Given the description of an element on the screen output the (x, y) to click on. 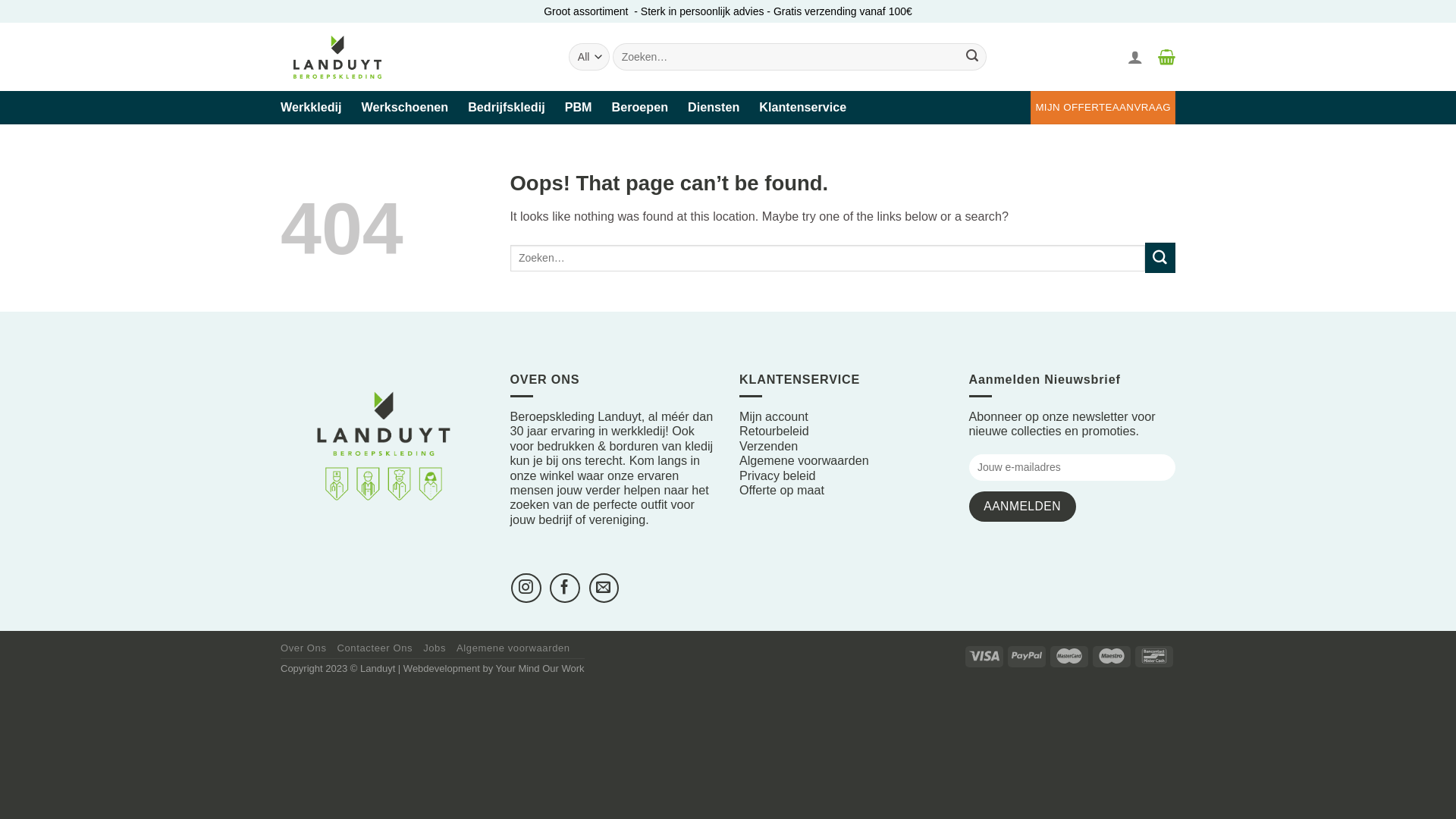
Retourbeleid Element type: text (774, 430)
Klantenservice Element type: text (802, 106)
Privacy beleid Element type: text (777, 475)
PBM Element type: text (578, 106)
Zoeken Element type: text (972, 56)
Over Ons Element type: text (303, 647)
Beroepen Element type: text (639, 106)
Bedrijfskledij Element type: text (505, 106)
Landuyt Beroepskleding - Vakkundig in stijl sinds 1990 Element type: hover (343, 56)
Werkkledij Element type: text (311, 106)
Your Mind Our Work Element type: text (539, 668)
Offerte op maat Element type: text (781, 489)
Aanmelden Element type: text (1022, 506)
Werkschoenen Element type: text (404, 106)
Verzenden Element type: text (768, 445)
Contacteer Ons Element type: text (375, 647)
Mijn account Element type: text (773, 416)
Winkelwagen Element type: hover (1164, 56)
Algemene voorwaarden Element type: text (513, 647)
Algemene voorwaarden Element type: text (804, 460)
Diensten Element type: text (713, 106)
Jobs Element type: text (434, 647)
MIJN OFFERTEAANVRAAG Element type: text (1102, 107)
